Given the description of an element on the screen output the (x, y) to click on. 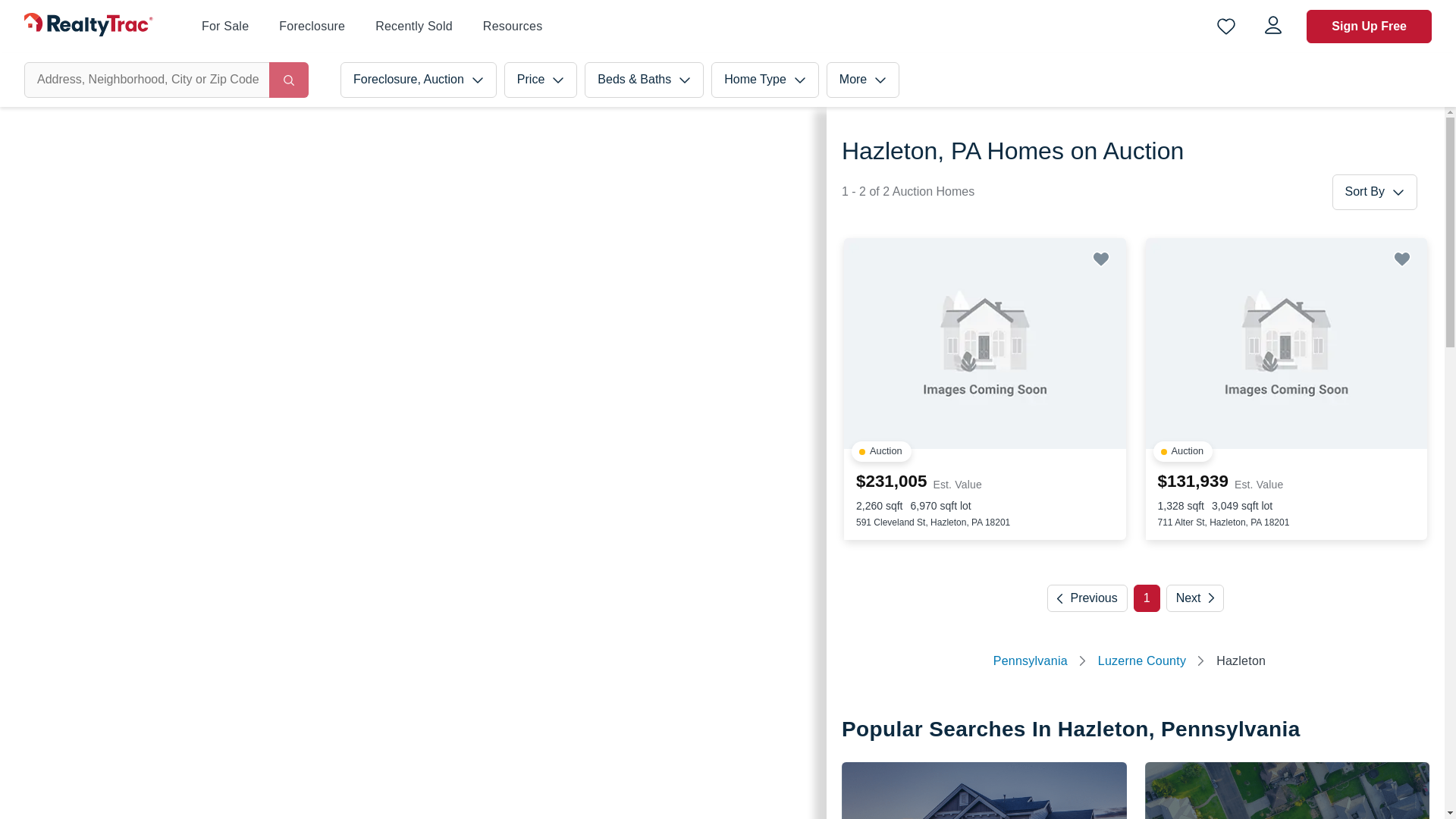
Recently Sold (413, 26)
Foreclosure, Auction (418, 79)
Resources (513, 26)
Foreclosure (312, 26)
Sign Up Free (1368, 26)
Price (539, 79)
For Sale (225, 26)
